Given the description of an element on the screen output the (x, y) to click on. 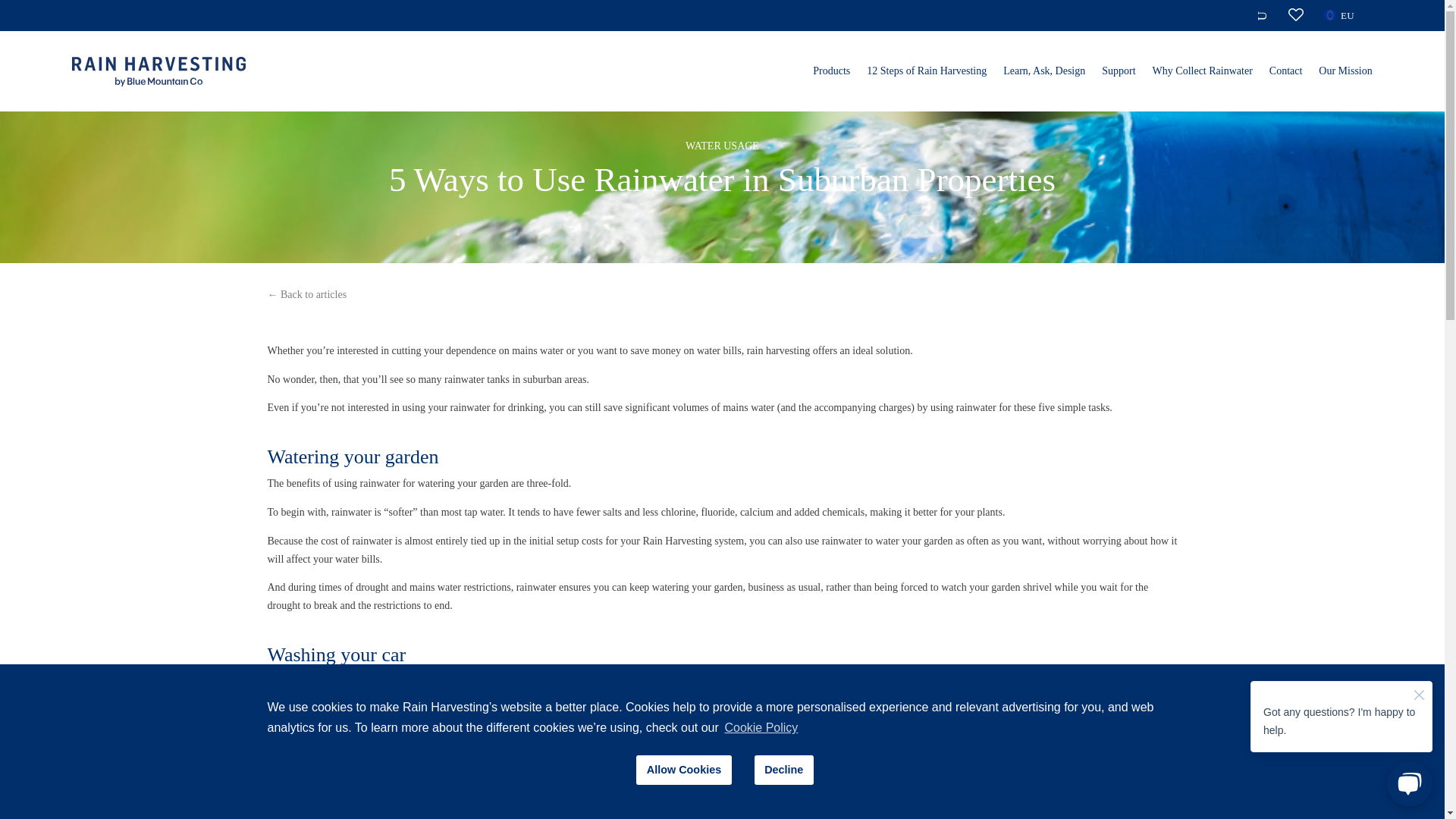
EU (1346, 18)
Current Language (1328, 13)
